Given the description of an element on the screen output the (x, y) to click on. 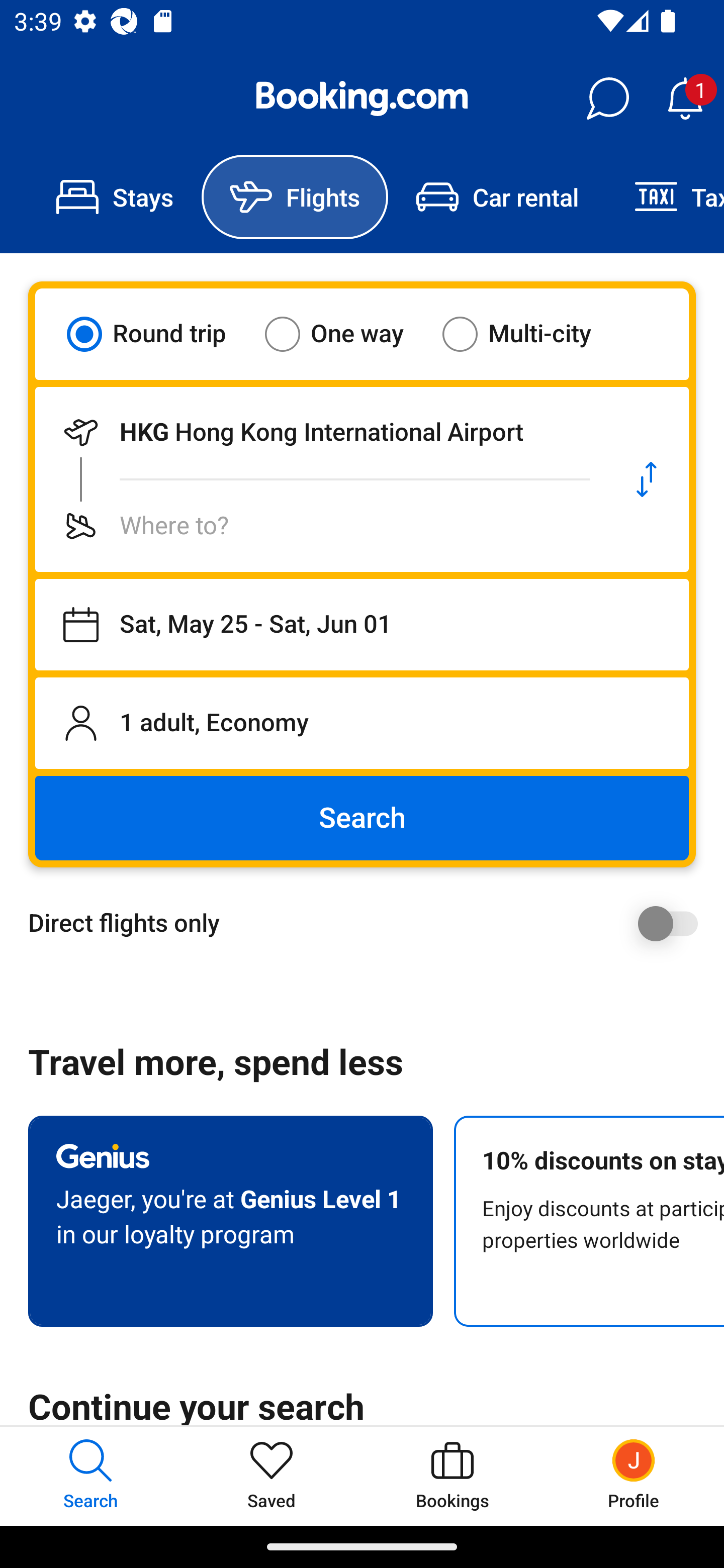
Messages (607, 98)
Notifications (685, 98)
Stays (114, 197)
Flights (294, 197)
Car rental (497, 197)
Taxi (665, 197)
One way (346, 333)
Multi-city (528, 333)
Departing from HKG Hong Kong International Airport (319, 432)
Swap departure location and destination (646, 479)
Flying to  (319, 525)
Departing on Sat, May 25, returning on Sat, Jun 01 (361, 624)
1 adult, Economy (361, 722)
Search (361, 818)
Direct flights only (369, 923)
Saved (271, 1475)
Bookings (452, 1475)
Profile (633, 1475)
